Given the description of an element on the screen output the (x, y) to click on. 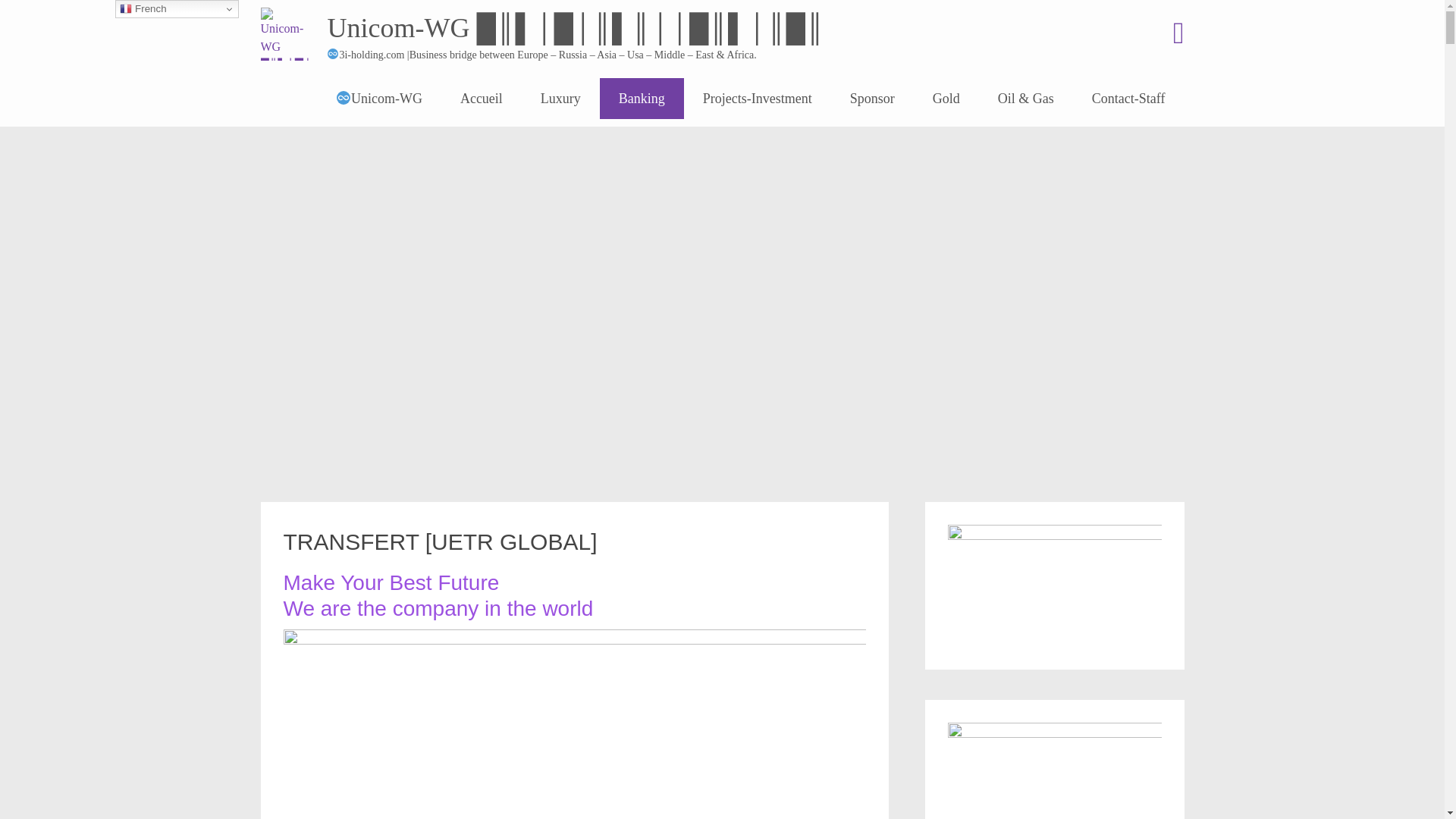
French Element type: text (176, 9)
Contact-Staff Element type: text (1128, 98)
Accueil Element type: text (481, 98)
Oil & Gas Element type: text (1026, 98)
Luxury Element type: text (560, 98)
Banking Element type: text (641, 98)
Gold Element type: text (946, 98)
Sponsor Element type: text (872, 98)
Projects-Investment Element type: text (757, 98)
